Given the description of an element on the screen output the (x, y) to click on. 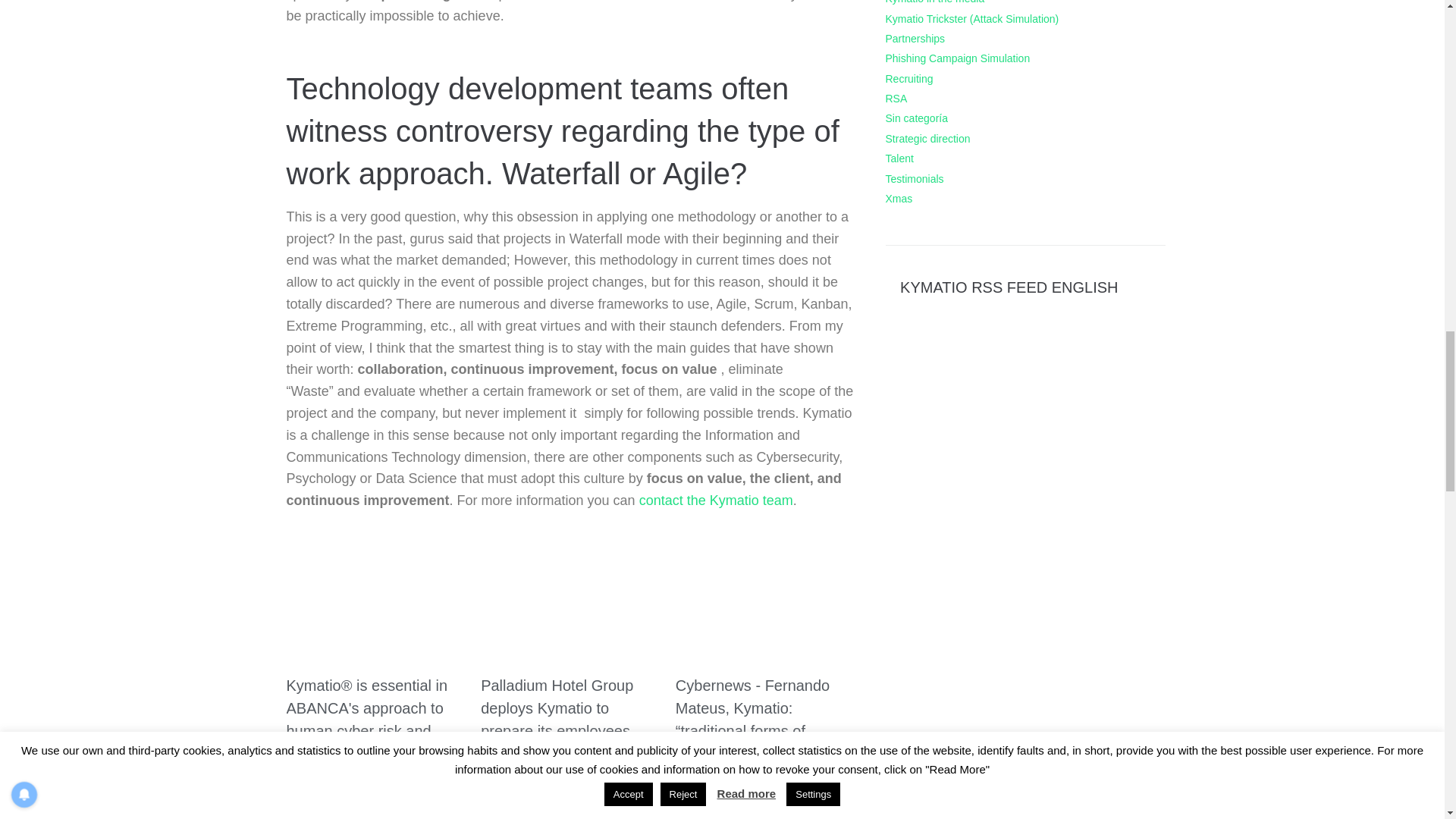
contact the Kymatio team (716, 500)
